Given the description of an element on the screen output the (x, y) to click on. 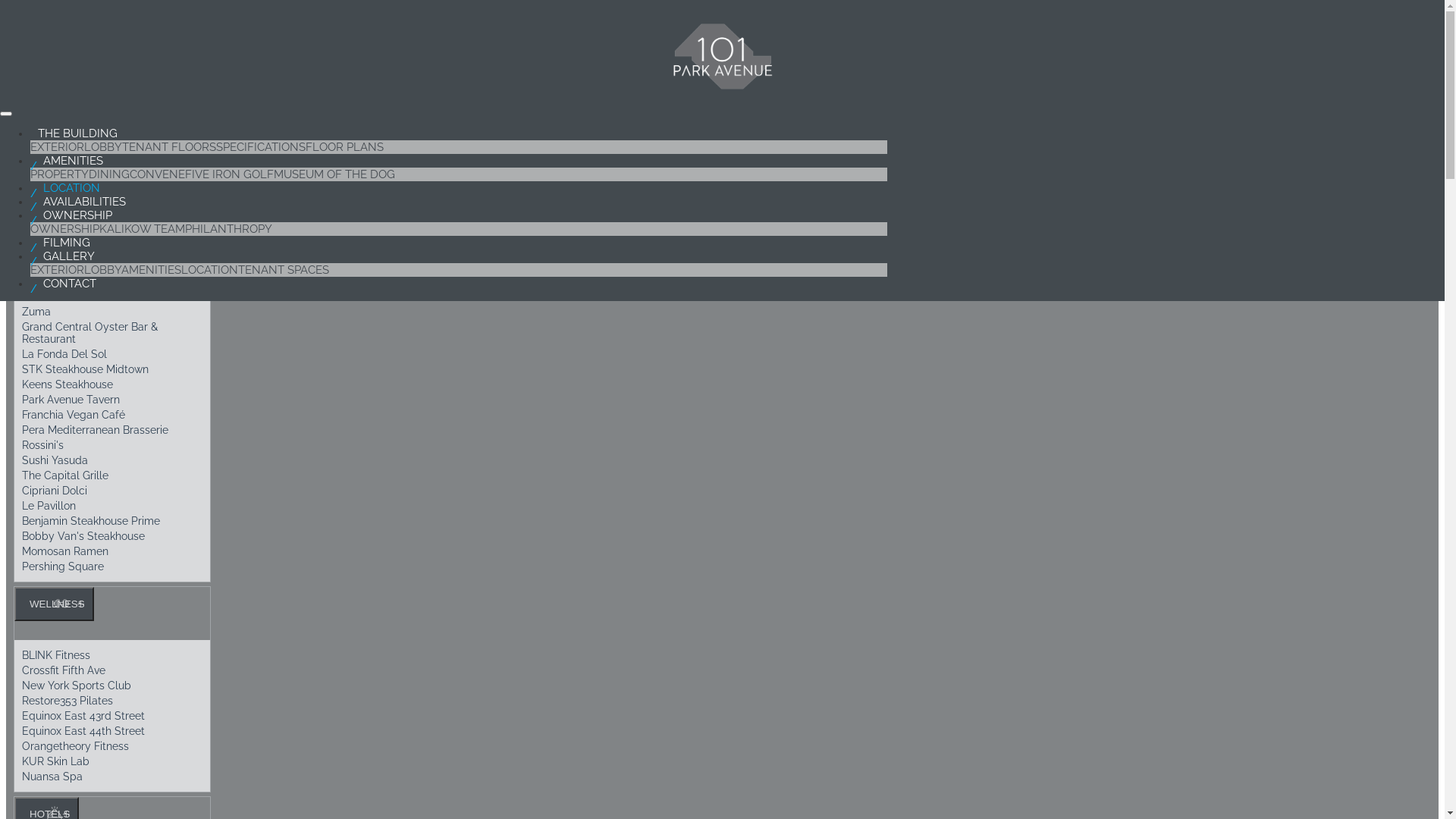
CONVENE Element type: text (157, 174)
TRANSPORTATION Element type: text (72, 156)
Momosan Ramen Element type: text (112, 550)
Equinox East 43rd Street Element type: text (112, 715)
LOCATION Element type: text (209, 269)
TENANT FLOORS Element type: text (169, 146)
Bobby Van's Steakhouse Element type: text (112, 535)
BLINK Fitness Element type: text (112, 654)
DINING Element type: text (44, 245)
Sushi Yasuda Element type: text (112, 459)
La Fonda Del Sol Element type: text (112, 353)
Pershing Square Element type: text (112, 566)
The Capital Grille Element type: text (112, 475)
PROPERTY Element type: text (59, 174)
Keens Steakhouse Element type: text (112, 384)
AVAILABILITIES Element type: text (81, 208)
Crossfit Fifth Ave Element type: text (112, 669)
TENANT SPACES Element type: text (283, 269)
Pera Mediterranean Brasserie Element type: text (112, 429)
LOBBY Element type: text (102, 269)
GALLERY Element type: text (66, 262)
LOCATION Element type: text (68, 194)
Zuma Element type: text (112, 311)
AMENITIES Element type: text (70, 167)
Benjamin Steakhouse Prime Element type: text (112, 520)
Nuansa Spa Element type: text (112, 776)
FLOOR PLANS Element type: text (344, 146)
Rossini's Element type: text (112, 444)
Equinox East 44th Street Element type: text (112, 730)
Le Pavillon Element type: text (112, 505)
Restore353 Pilates Element type: text (112, 700)
EXTERIOR Element type: text (57, 146)
DINING Element type: text (108, 174)
KUR Skin Lab Element type: text (112, 760)
EXTERIOR Element type: text (57, 269)
CONTACT Element type: text (66, 290)
Orangetheory Fitness Element type: text (112, 745)
FIVE IRON GOLF Element type: text (229, 174)
LOBBY Element type: text (103, 146)
STK Steakhouse Midtown Element type: text (112, 368)
MUSEUM OF THE DOG Element type: text (334, 174)
Grand Central Options Element type: text (112, 199)
New York Sports Club Element type: text (112, 685)
Cipriani Dolci Element type: text (112, 490)
Citi Bikes Element type: text (112, 214)
OWNERSHIP Element type: text (64, 228)
WELLNESS Element type: text (54, 603)
KALIKOW TEAM Element type: text (142, 228)
Los Tacos Element type: text (112, 296)
Park Avenue Tavern Element type: text (112, 399)
OWNERSHIP Element type: text (74, 221)
THE BUILDING Element type: text (77, 139)
SPECIFICATIONS Element type: text (260, 146)
FILMING Element type: text (63, 249)
PHILANTHROPY Element type: text (228, 228)
Grand Central Oyster Bar & Restaurant Element type: text (112, 332)
AMENITIES Element type: text (151, 269)
